Given the description of an element on the screen output the (x, y) to click on. 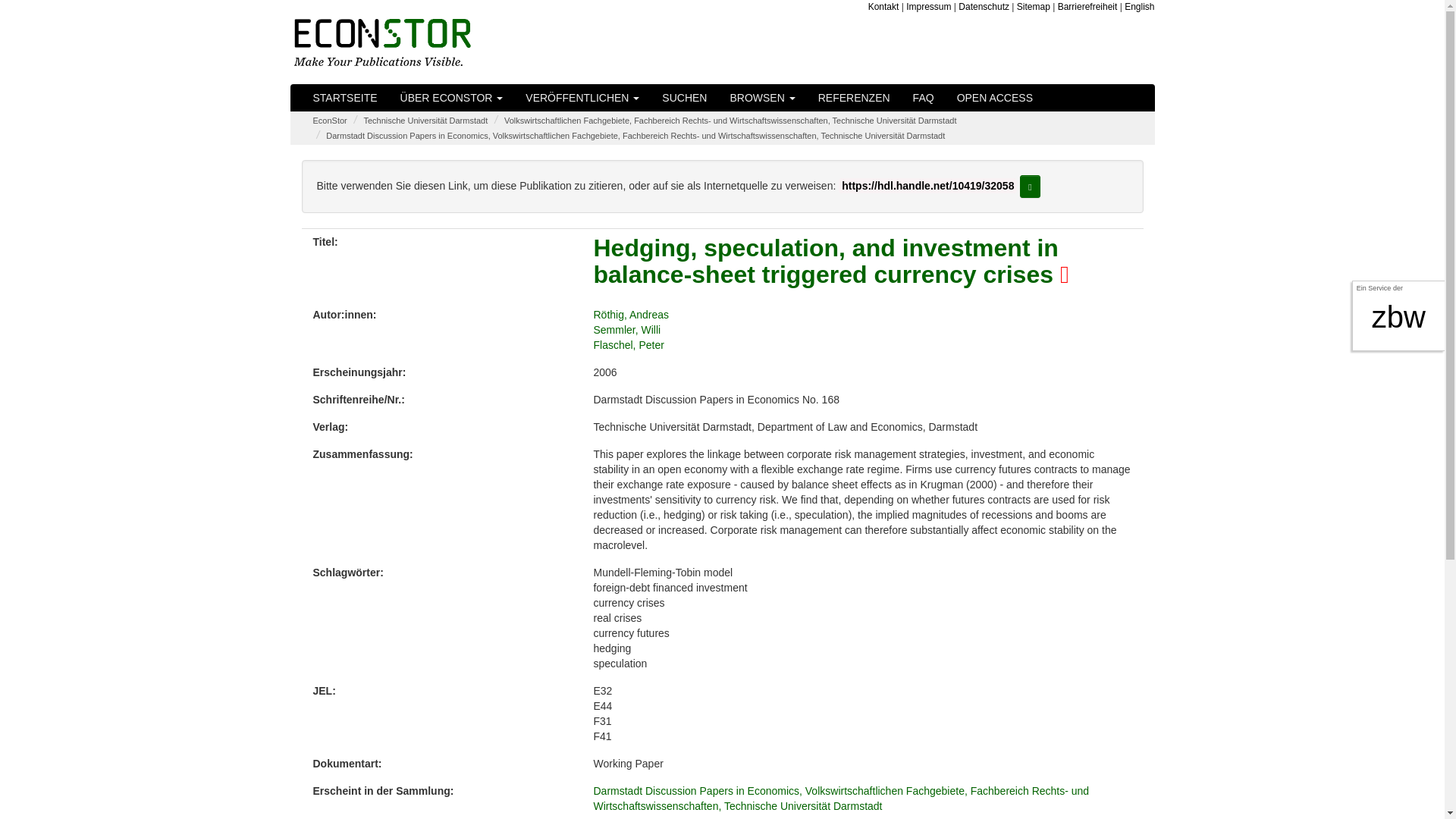
SUCHEN (683, 97)
STARTSEITE (344, 97)
BROWSEN (761, 97)
Barrierefreiheit (1088, 6)
Impressum (927, 6)
English (1139, 6)
REFERENZEN (853, 97)
EconStor (329, 120)
FAQ (922, 97)
zbw (1398, 316)
